Given the description of an element on the screen output the (x, y) to click on. 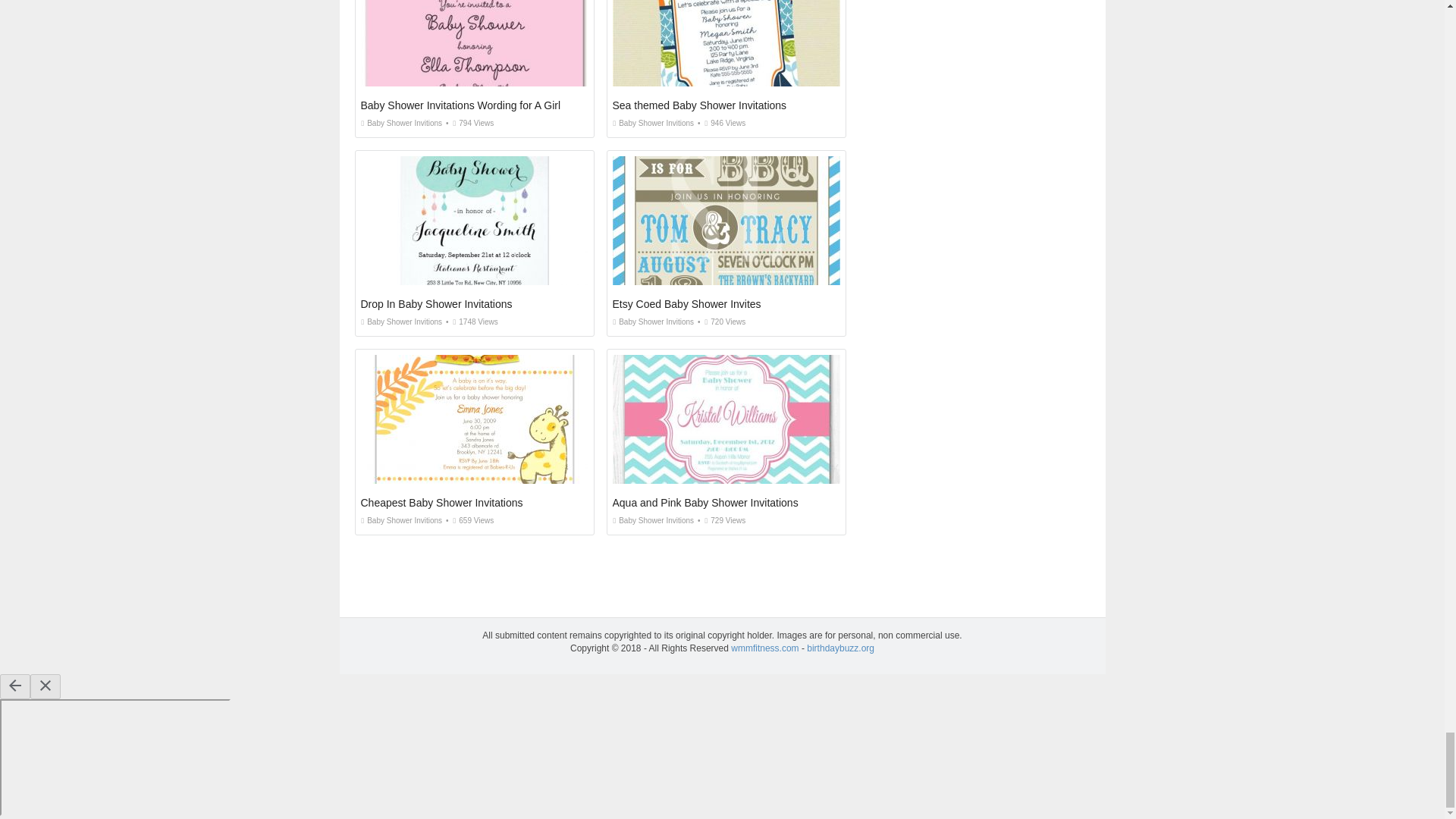
Baby Shower Invitions (653, 122)
Baby Shower Invitations Wording for A Girl (460, 105)
Baby Shower Invitions (401, 321)
Etsy Coed Baby Shower Invites (686, 304)
Sea themed Baby Shower Invitations (699, 105)
Baby Shower Invitions (401, 122)
Drop In Baby Shower Invitations (436, 304)
